Given the description of an element on the screen output the (x, y) to click on. 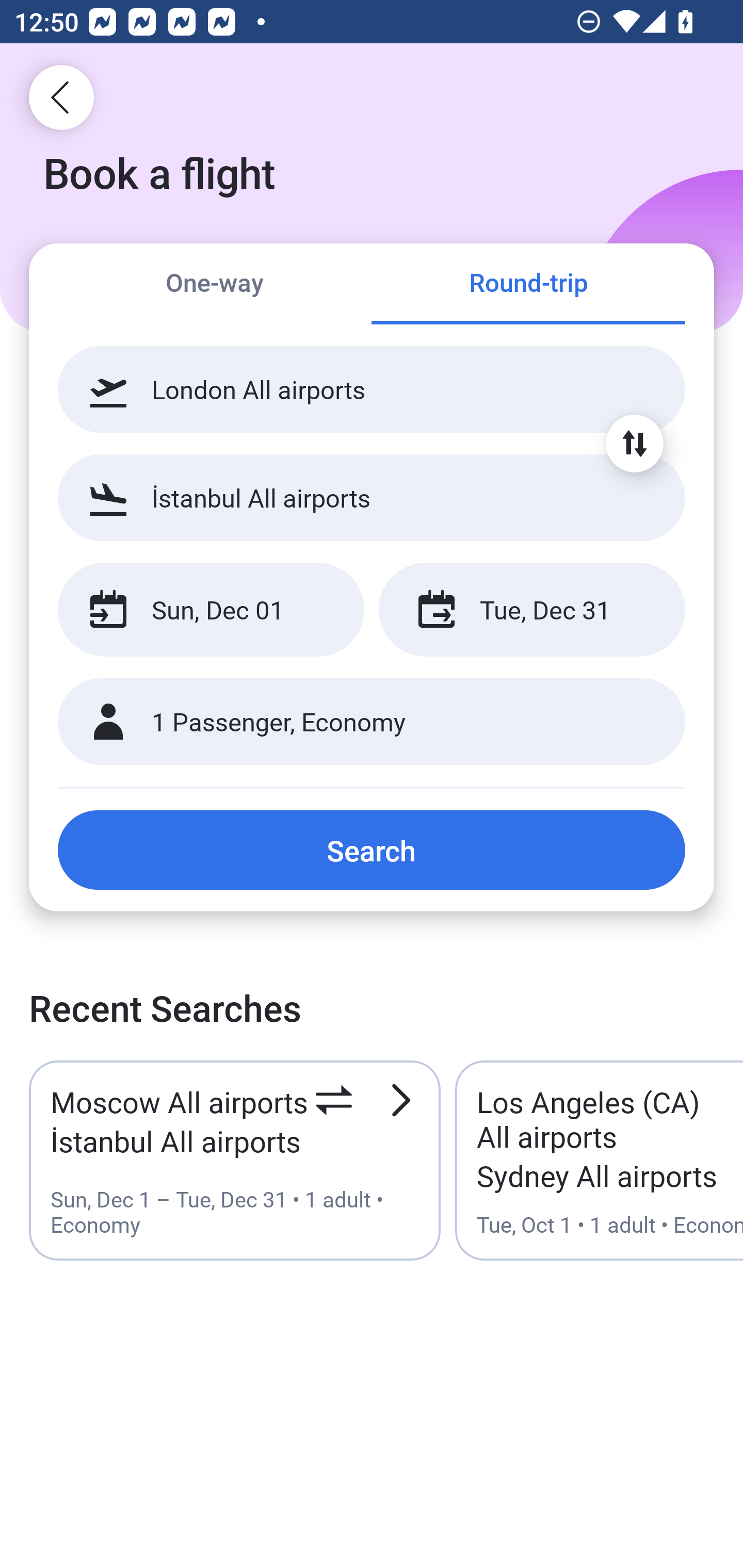
One-way (214, 284)
London All airports (371, 389)
İstanbul All airports (371, 497)
Sun, Dec 01 (210, 609)
Tue, Dec 31 (531, 609)
1 Passenger, Economy (371, 721)
Search (371, 849)
